Given the description of an element on the screen output the (x, y) to click on. 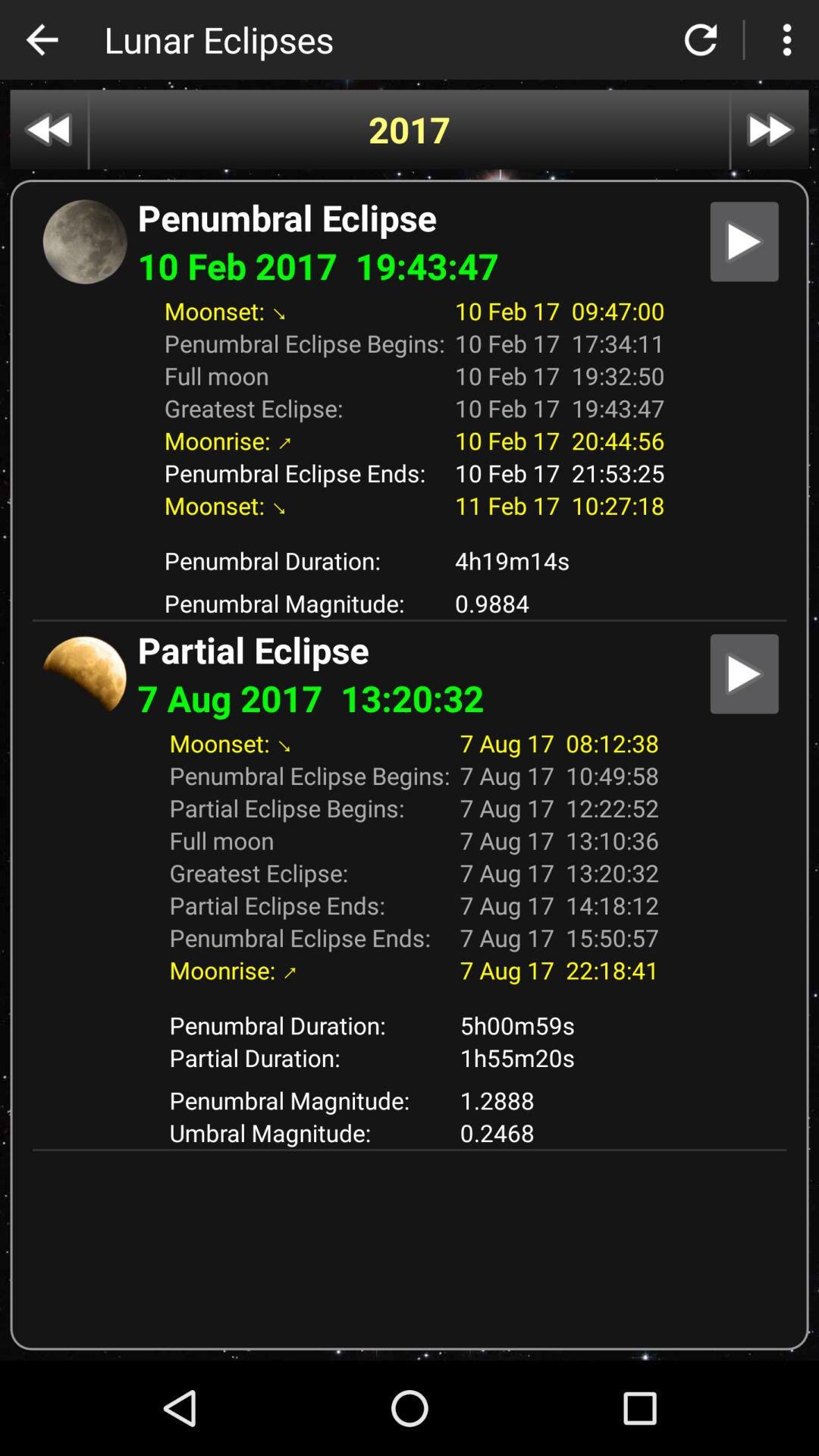
rotate view (700, 39)
